Given the description of an element on the screen output the (x, y) to click on. 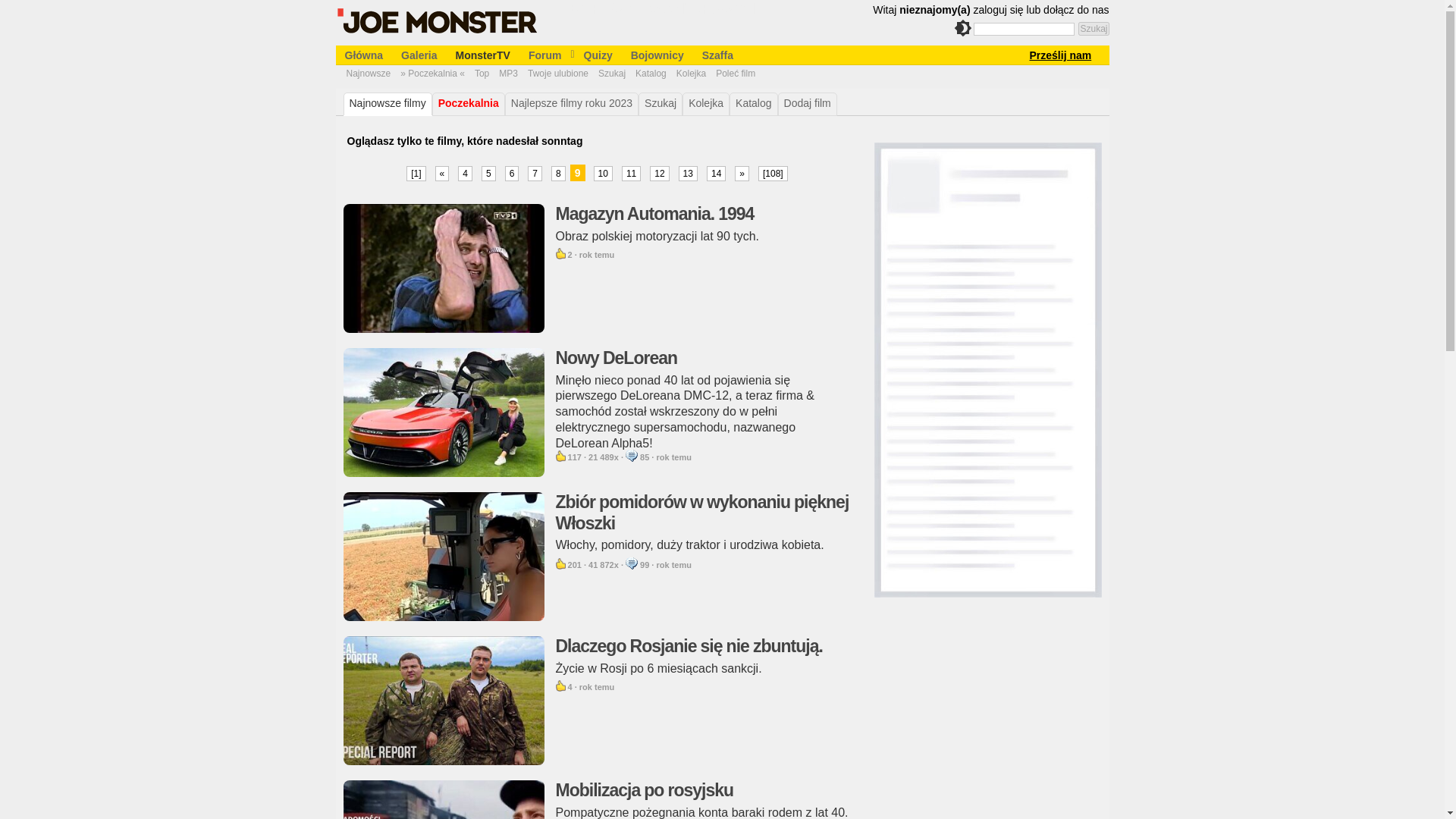
Strona  14 (715, 173)
first page (415, 173)
Strona  8 (558, 173)
Strona  13 (687, 173)
Szukaj (1093, 29)
Szukaj (1093, 29)
2022-10-27 20:15:06 (673, 456)
last page (772, 173)
Poprzednia strona (442, 173)
Strona  6 (512, 173)
